Given the description of an element on the screen output the (x, y) to click on. 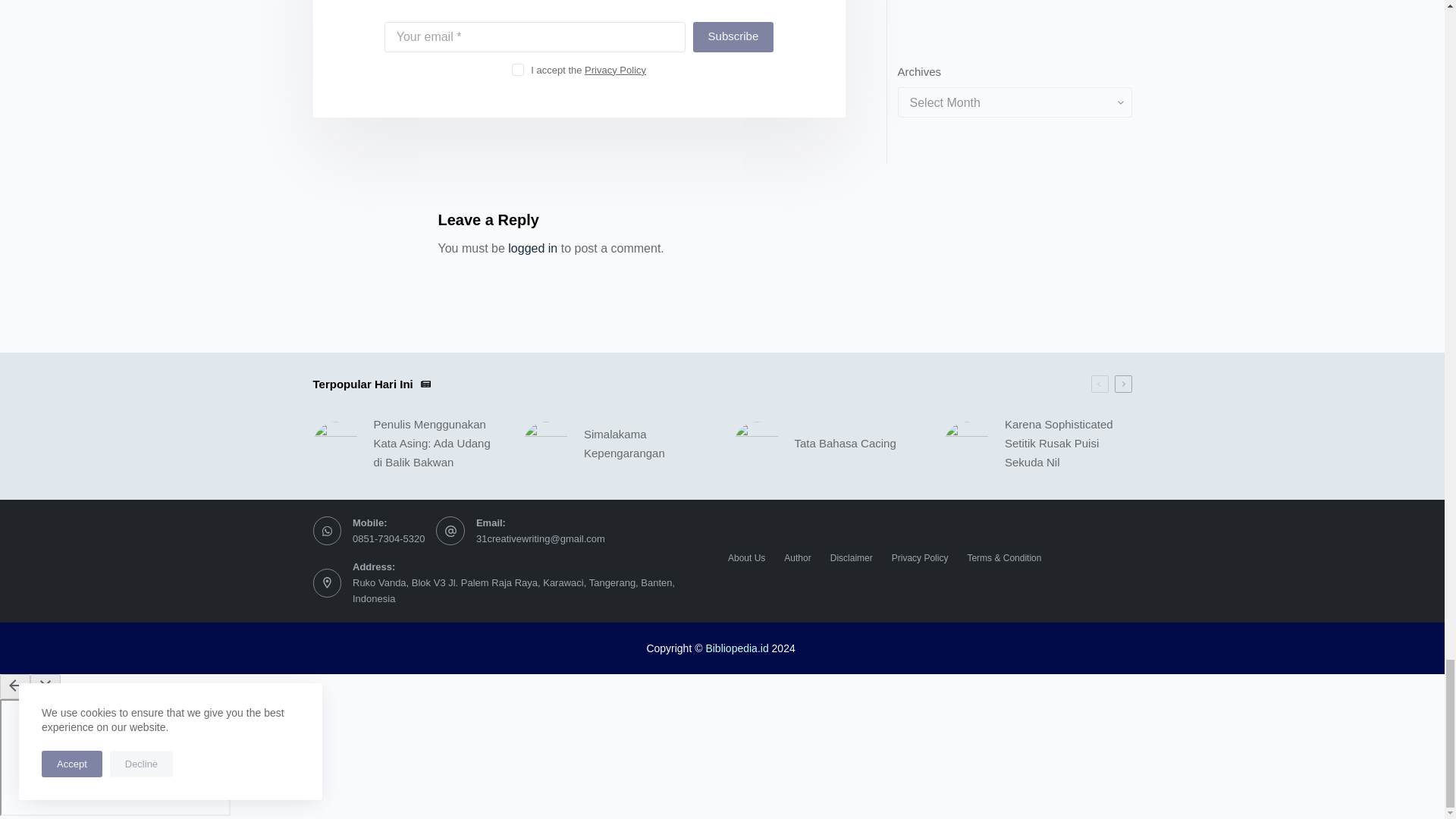
on (518, 69)
